Given the description of an element on the screen output the (x, y) to click on. 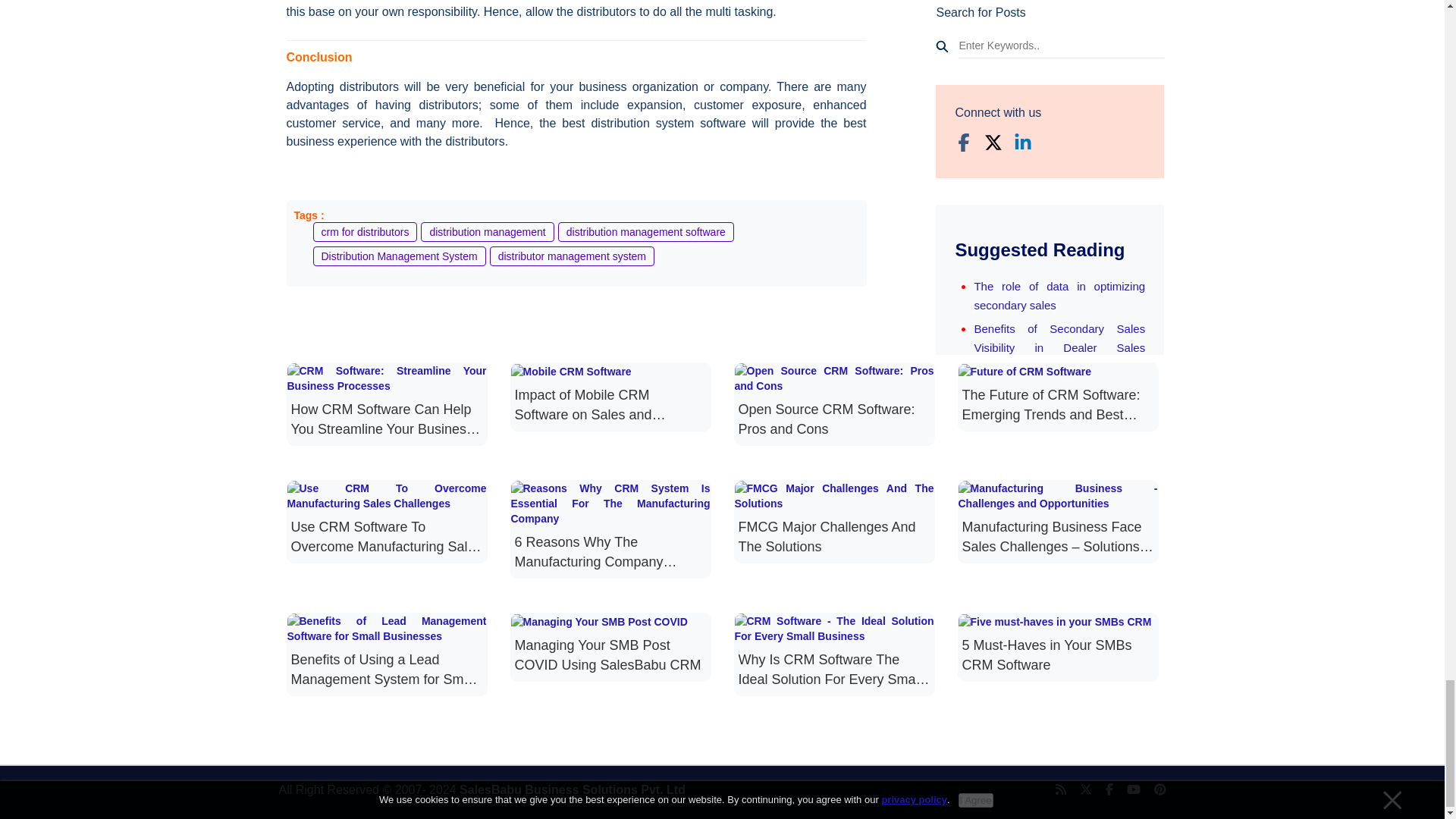
crm for distributors (364, 231)
distribution management (486, 231)
Pin me on Pinterest (1153, 790)
distribution management software (645, 231)
Open Source CRM Software: Pros and Cons (833, 400)
Suscribe to my rss feed (1053, 790)
Distribution Management System (398, 256)
Follow me on Youtube (1126, 790)
distributor management system (571, 256)
Impact of Mobile CRM Software on Sales and Marketing (610, 394)
Follow me on Facebook (1102, 790)
SalesBabu Business Solutions Pvt. Ltd. (572, 789)
Follow me on Twitter (1078, 790)
